Given the description of an element on the screen output the (x, y) to click on. 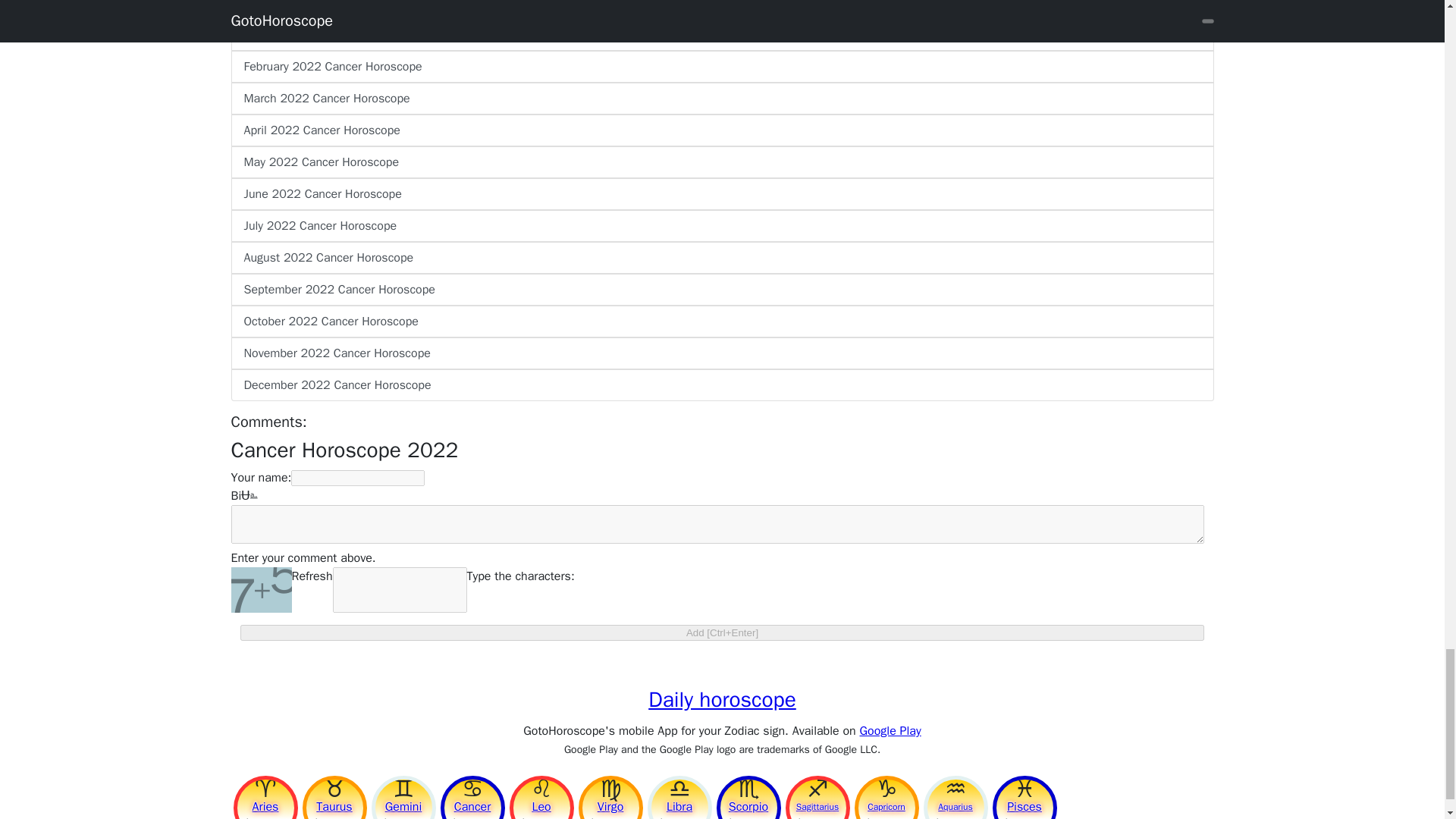
September 2022 Cancer Horoscope (721, 289)
October 2022 Cancer Horoscope (721, 321)
November 2022 Cancer Horoscope (721, 353)
January 2022 Cancer Horoscope (721, 34)
July 2022 Cancer Horoscope (721, 225)
August 2022 Cancer Horoscope (721, 257)
Refresh (311, 589)
April 2022 Cancer Horoscope (721, 130)
March 2022 Cancer Horoscope (721, 98)
May 2022 Cancer Horoscope (721, 162)
